Given the description of an element on the screen output the (x, y) to click on. 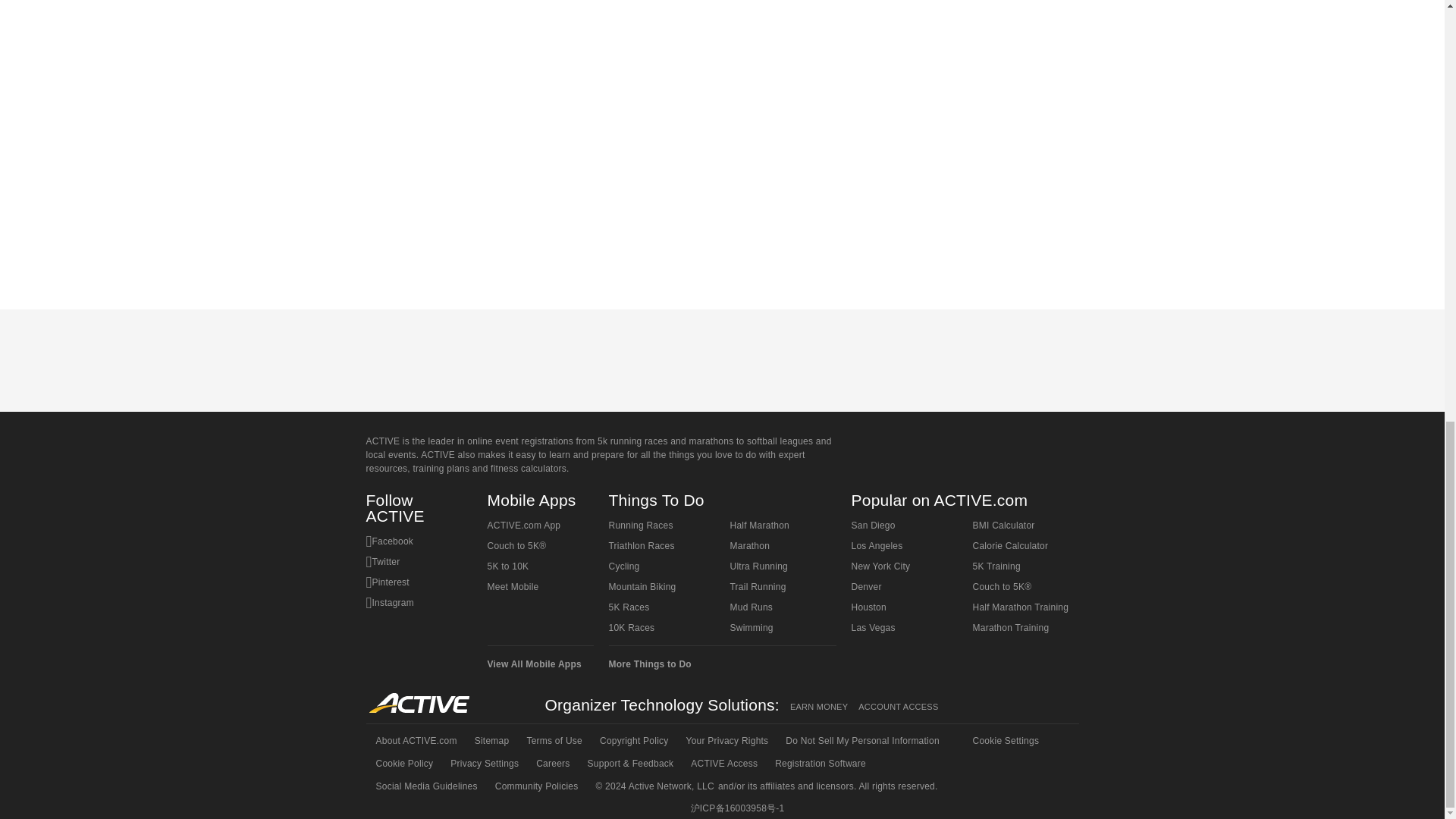
Do Not Sell My Personal Information (861, 740)
Your Privacy Rights: Updated (726, 740)
Terms of Use (552, 740)
Copyright Policy (633, 740)
Privacy Settings (483, 763)
Cookie Policy (403, 763)
